Given the description of an element on the screen output the (x, y) to click on. 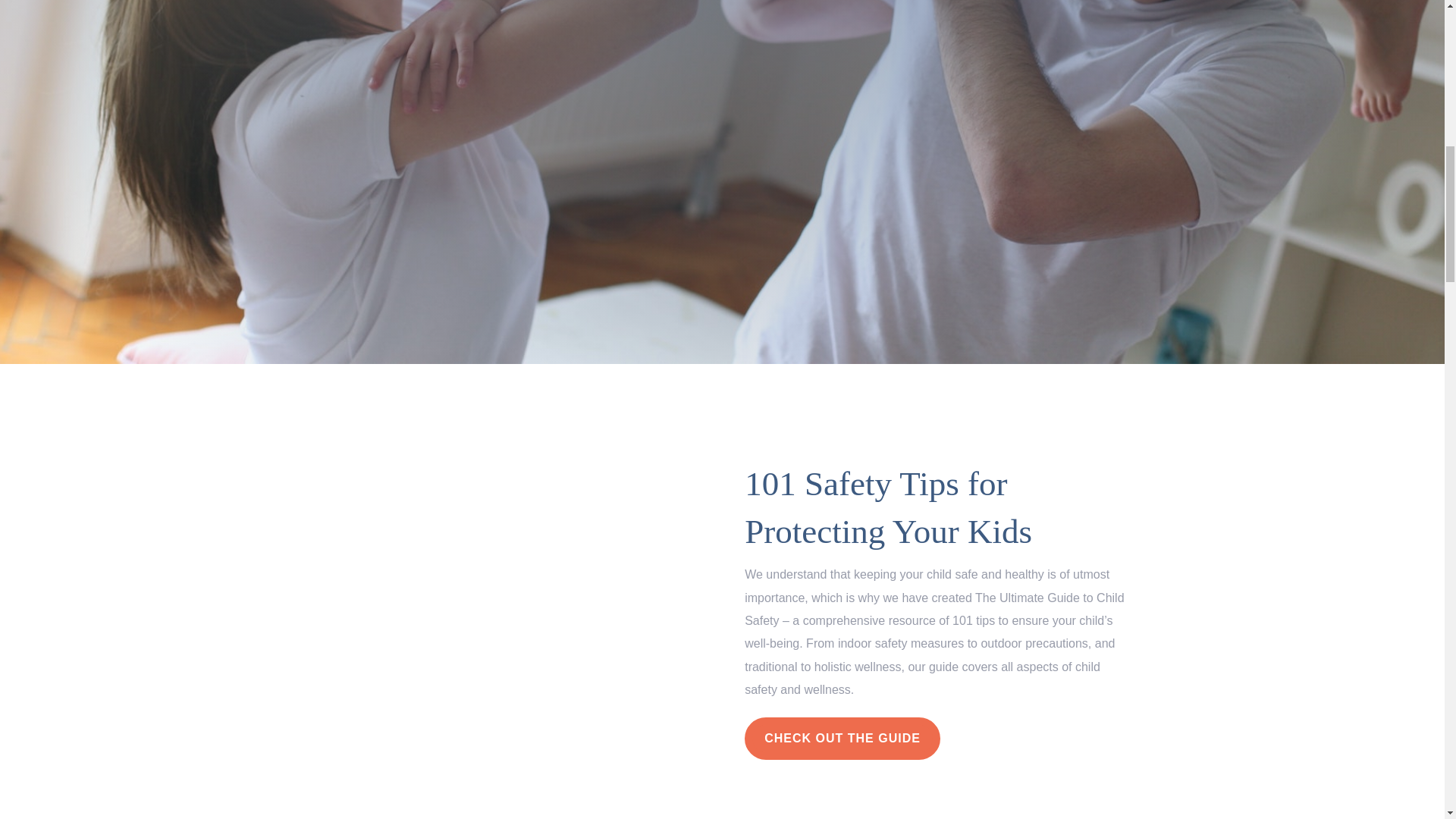
CHECK OUT THE GUIDE (842, 738)
